Given the description of an element on the screen output the (x, y) to click on. 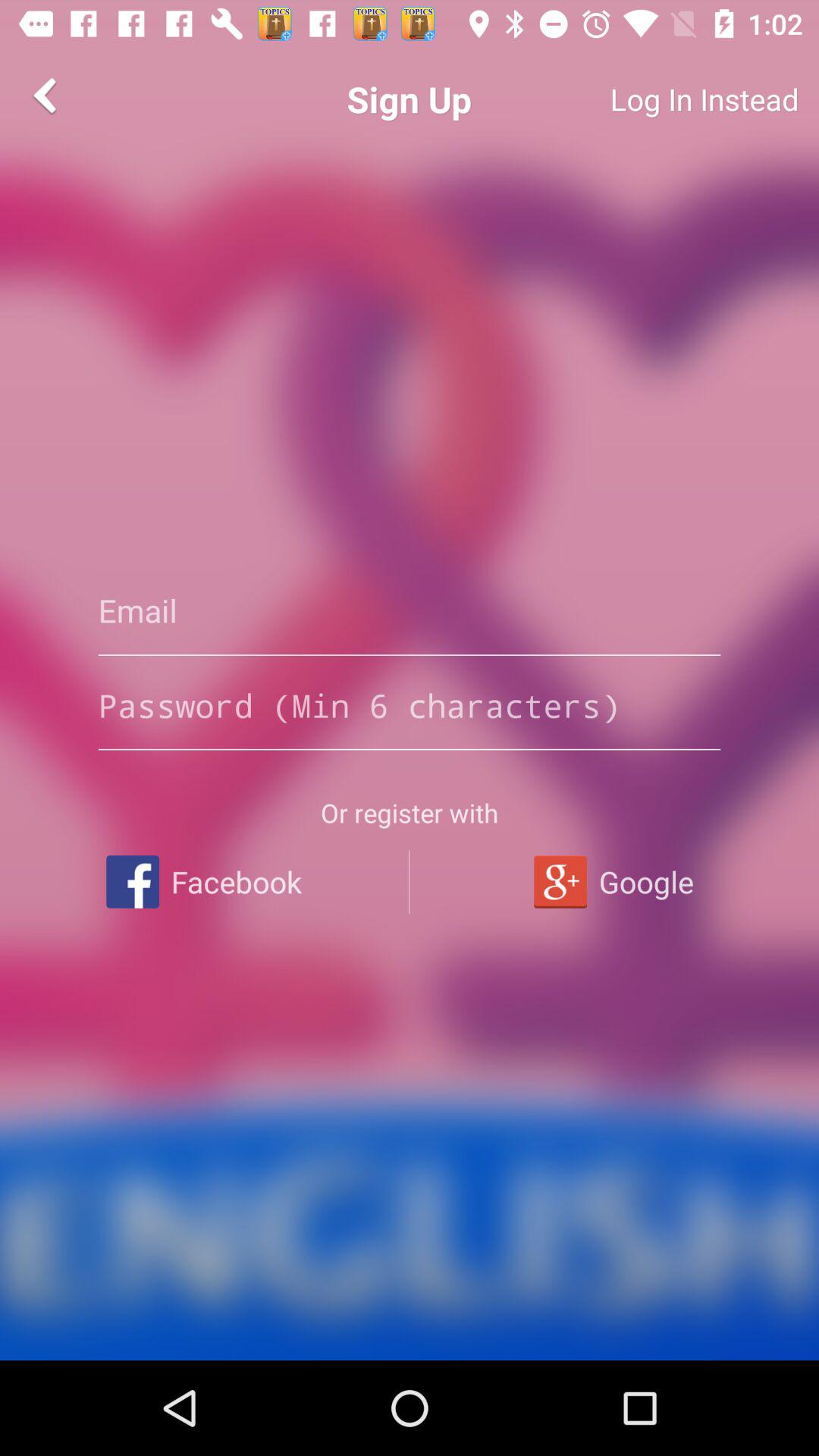
turn on the log in instead (649, 99)
